Given the description of an element on the screen output the (x, y) to click on. 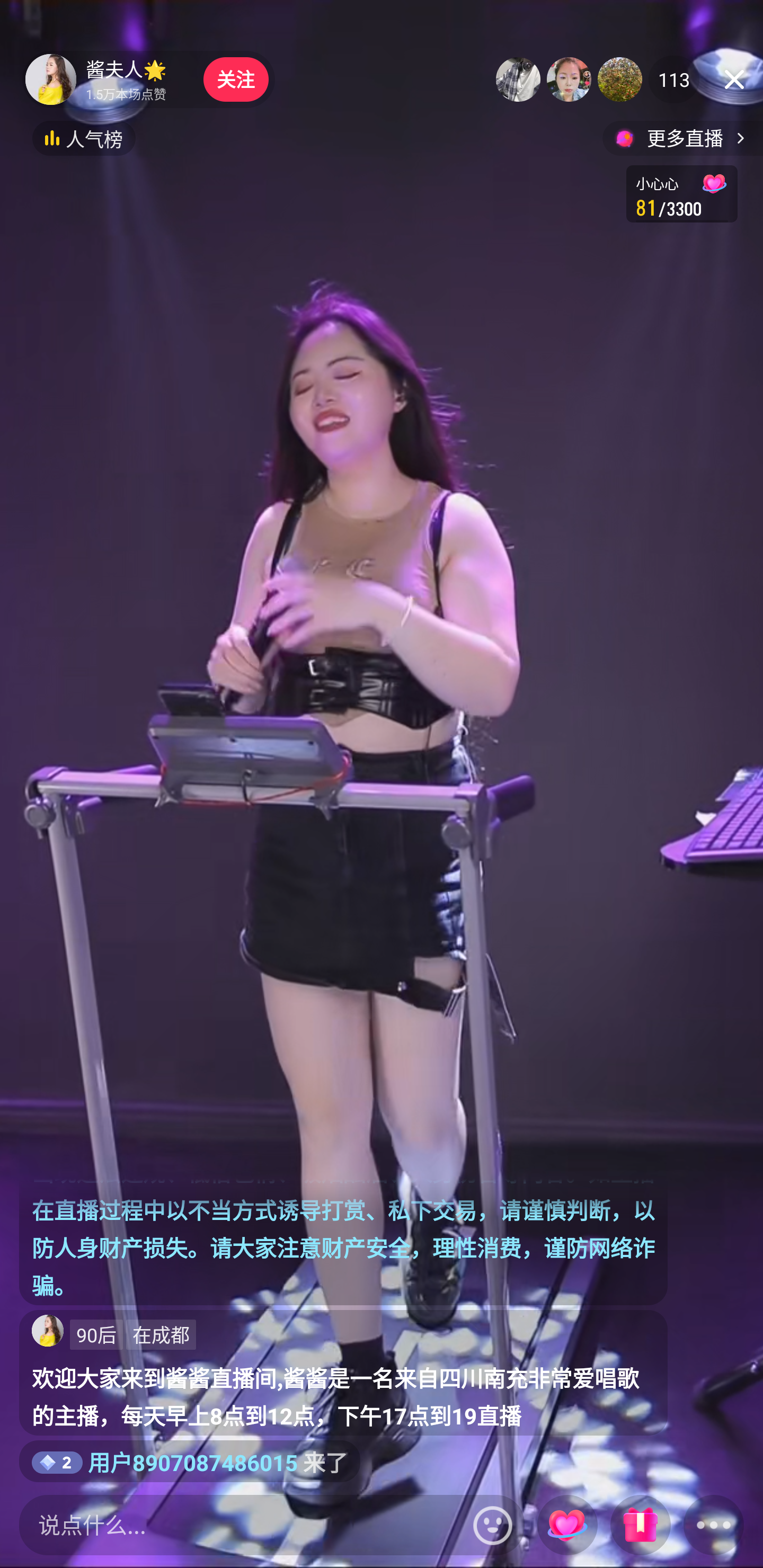
榜一 Adore (517, 78)
榜二 不念过往💦 (569, 78)
榜三 天吴 (619, 78)
主播酱夫人🌟 1.5万本场点赞  酱夫人🌟 1.5万本场点赞 关注 (148, 79)
113 113在线观众 (673, 78)
关注 (235, 78)
关闭 (733, 78)
人气榜，按钮 (83, 137)
更多直播 (682, 137)
心愿单 SaaS任务Banner (681, 193)
* 用户8907087486015 来了 (189, 1460)
说点什么... (241, 1524)
表情入口 (492, 1524)
小心心 (567, 1526)
礼物 (640, 1526)
更多面板 按钮 (713, 1526)
